Given the description of an element on the screen output the (x, y) to click on. 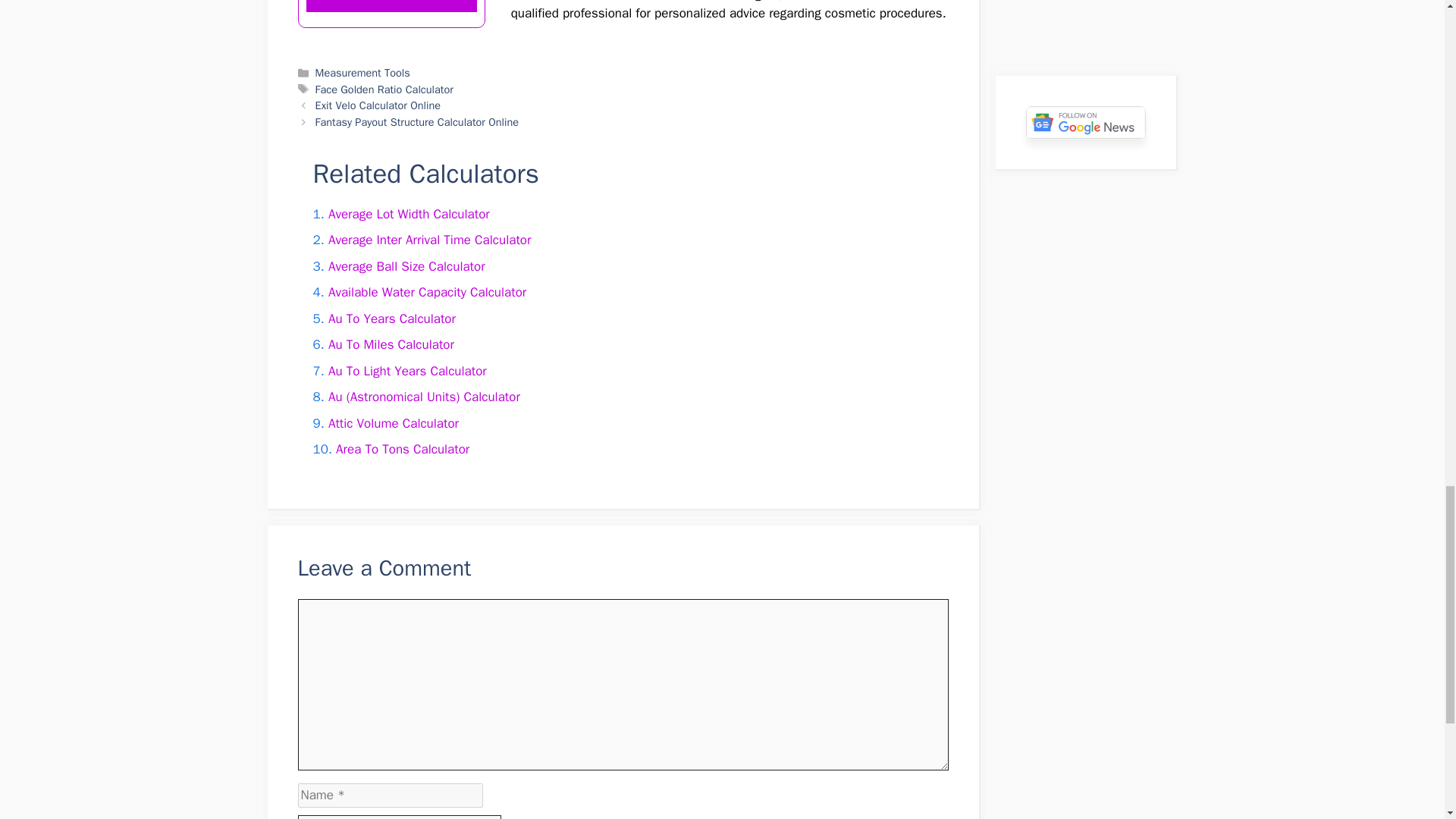
Exit Velo Calculator Online (378, 105)
Average Lot Width Calculator (409, 213)
Au To Miles Calculator (391, 344)
Average Inter Arrival Time Calculator (430, 239)
Area To Tons Calculator (402, 449)
Attic Volume Calculator (393, 423)
Au To Light Years Calculator (407, 371)
Au To Years Calculator (392, 318)
Average Ball Size Calculator (406, 266)
Measurement Tools (362, 72)
Available Water Capacity Calculator (427, 292)
Fantasy Payout Structure Calculator Online (416, 121)
Face Golden Ratio Calculator (383, 89)
